Given the description of an element on the screen output the (x, y) to click on. 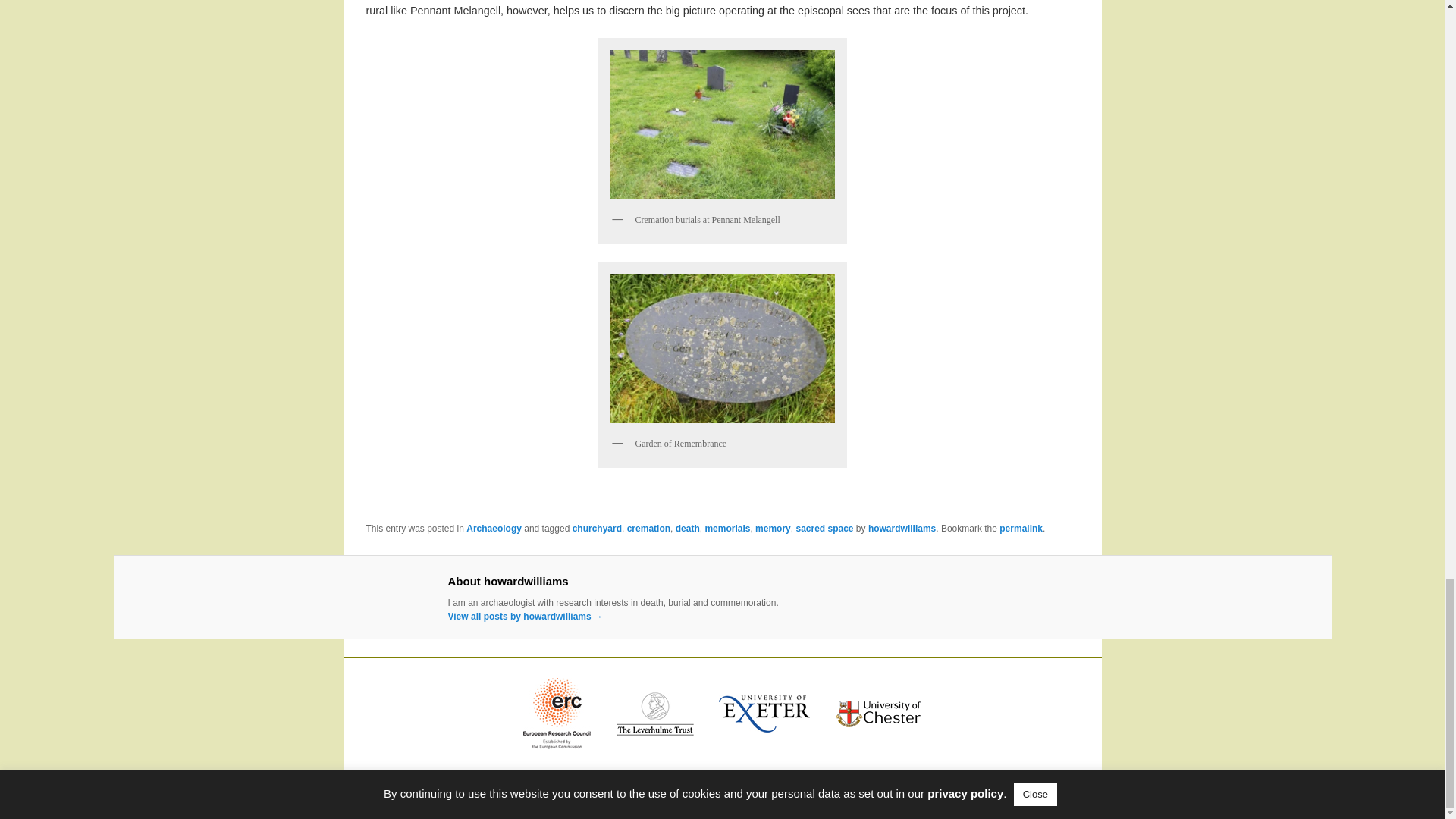
memorials (726, 528)
howardwilliams (901, 528)
churchyard (596, 528)
Archaeology (493, 528)
sacred space (823, 528)
memory (772, 528)
cremation (648, 528)
Privacy Policy (722, 774)
death (687, 528)
permalink (1020, 528)
